Given the description of an element on the screen output the (x, y) to click on. 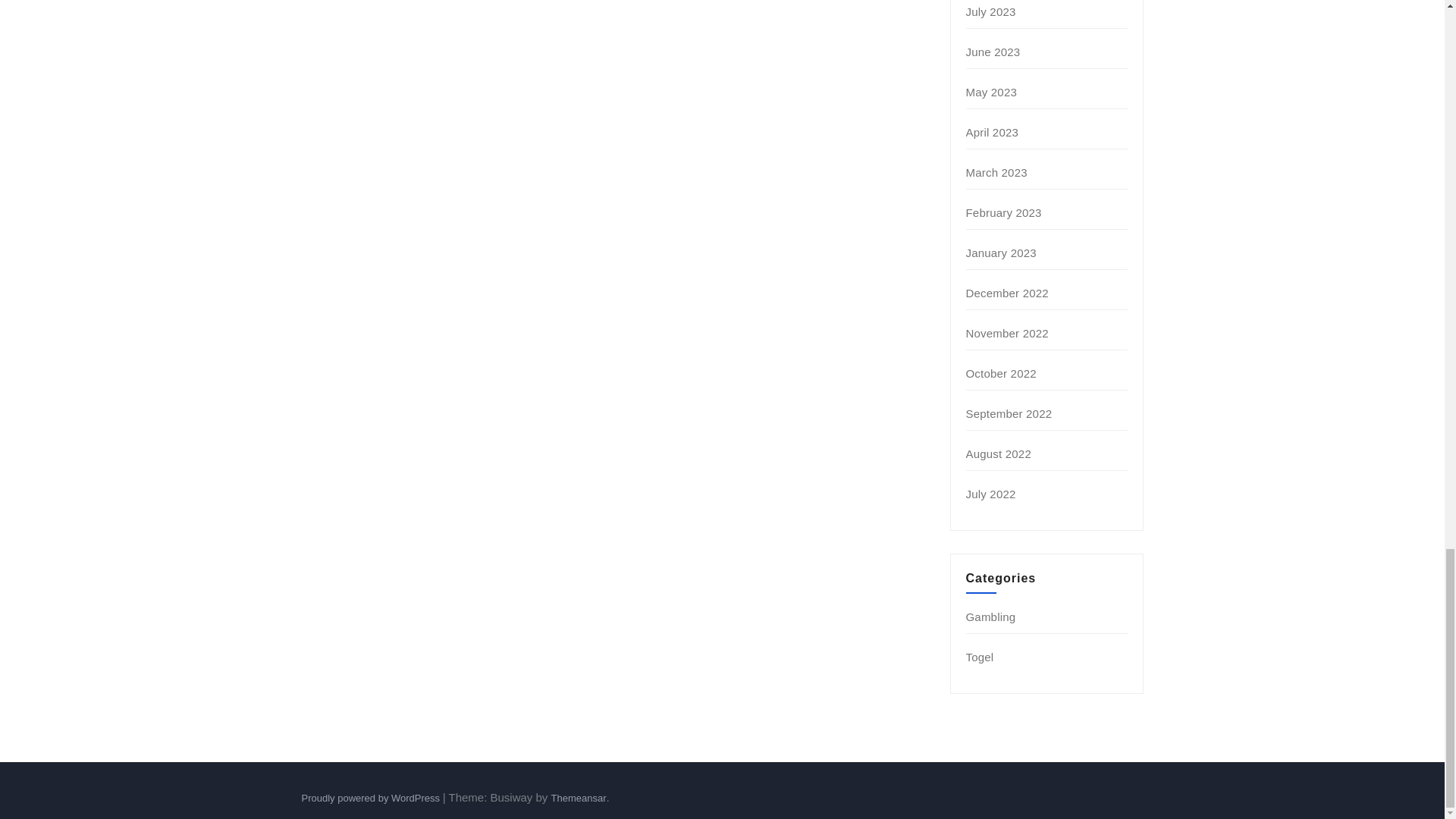
April 2023 (992, 132)
May 2023 (991, 91)
July 2023 (991, 11)
June 2023 (993, 51)
